Given the description of an element on the screen output the (x, y) to click on. 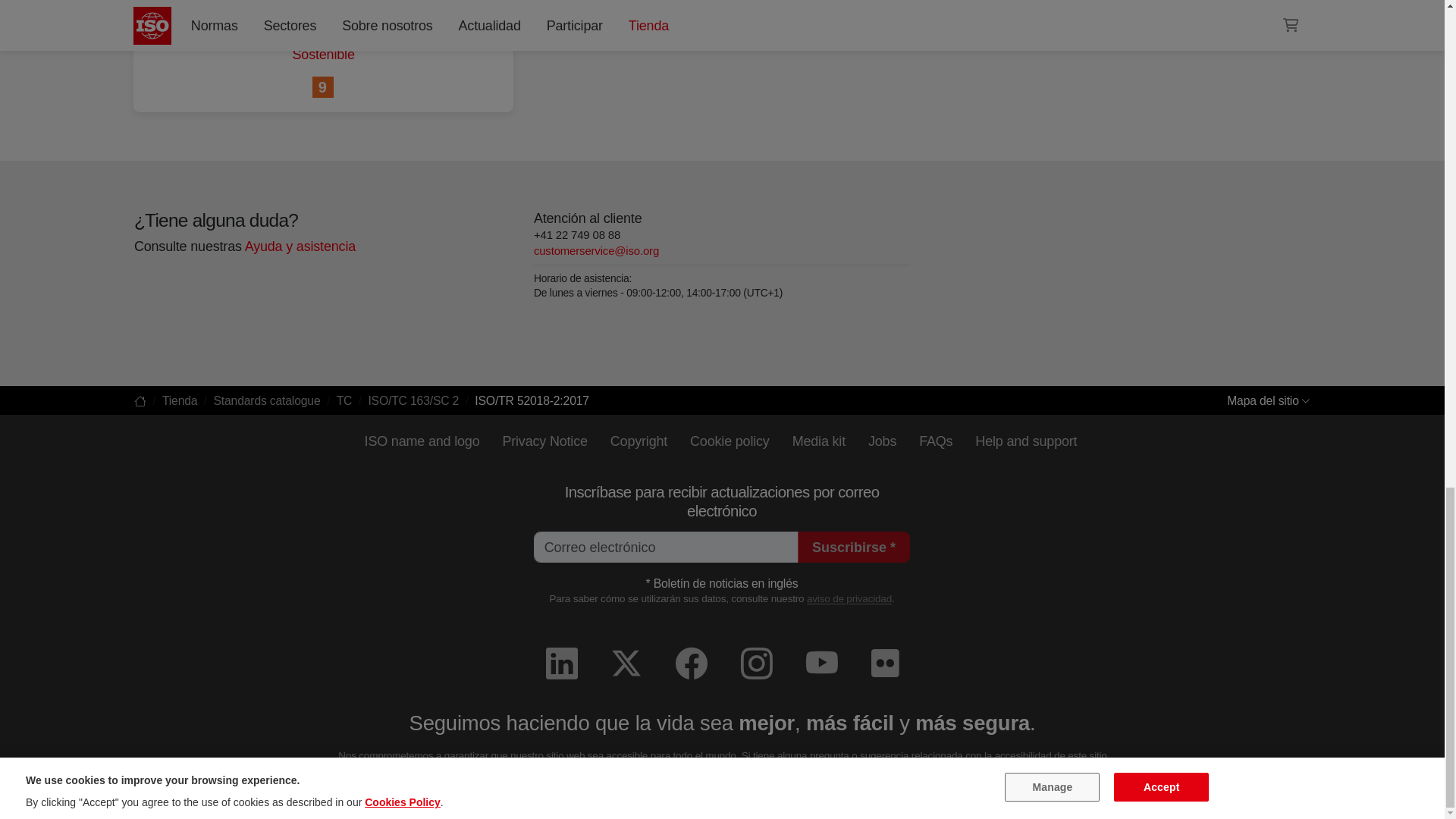
Industry, Innovation and Infrastructure (323, 87)
